Given the description of an element on the screen output the (x, y) to click on. 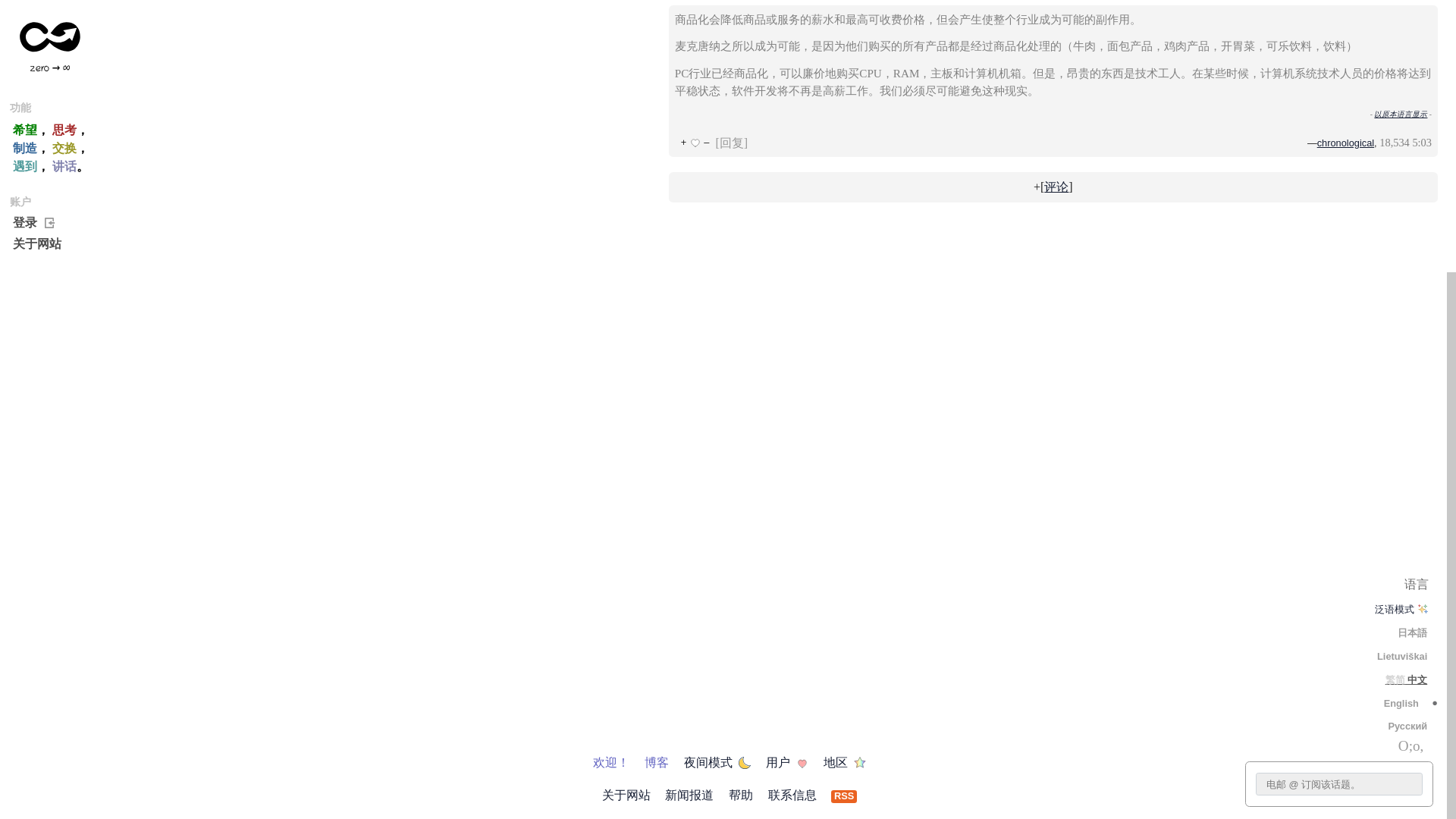
Add a project under this interest. (703, 11)
